Given the description of an element on the screen output the (x, y) to click on. 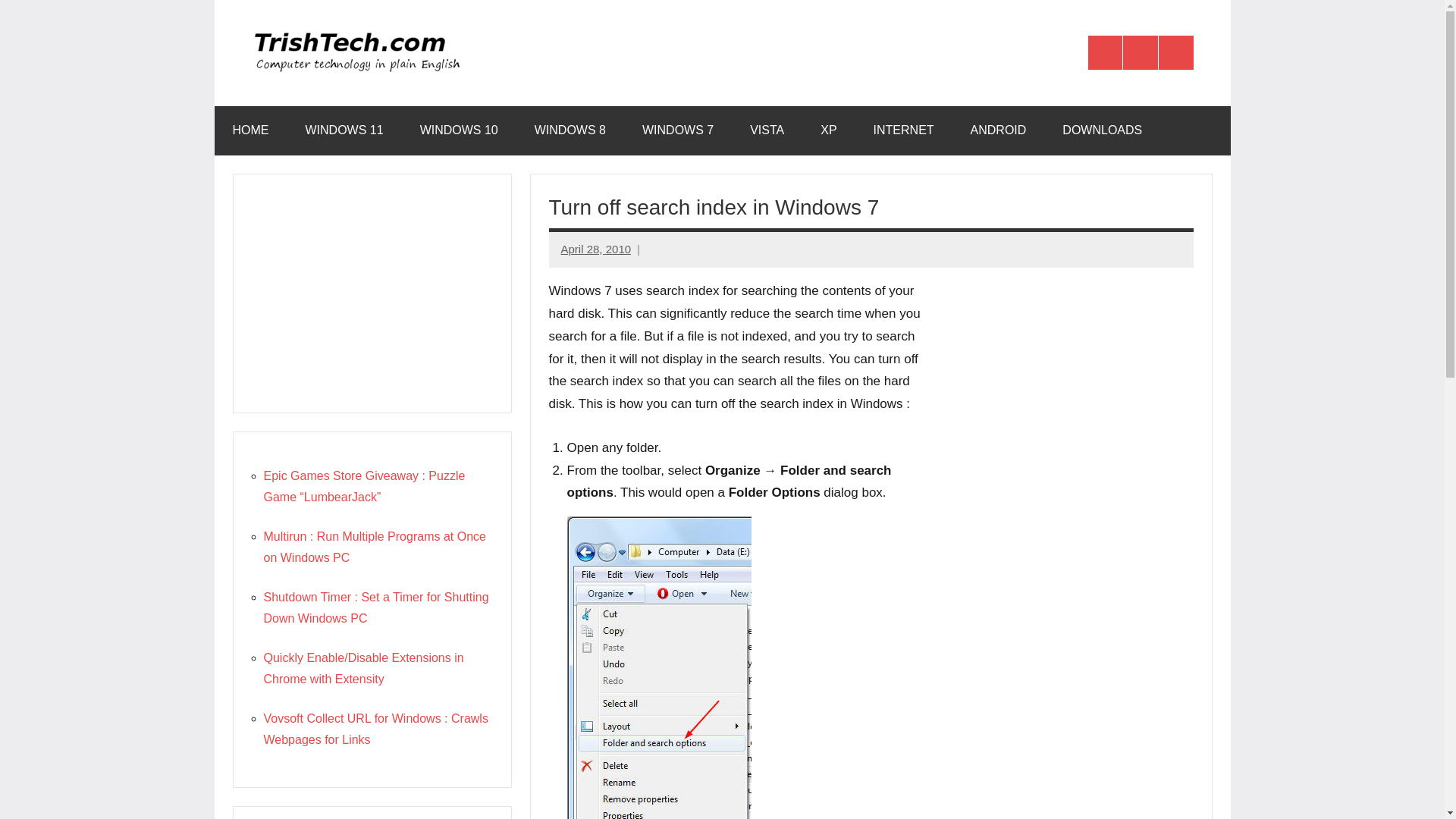
INTERNET (904, 130)
Facebook (1104, 53)
WINDOWS 11 (343, 130)
XP (828, 130)
Shutdown Timer : Set a Timer for Shutting Down Windows PC (376, 607)
Advertisement (372, 293)
ANDROID (998, 130)
Vovsoft Collect URL for Windows : Crawls Webpages for Links (375, 728)
Multirun : Run Multiple Programs at Once on Windows PC (374, 546)
VISTA (767, 130)
HOME (250, 130)
Vovsoft Collect URL for Windows : Crawls Webpages for Links (375, 728)
Shutdown Timer : Set a Timer for Shutting Down Windows PC (376, 607)
X (1139, 53)
WINDOWS 10 (458, 130)
